Given the description of an element on the screen output the (x, y) to click on. 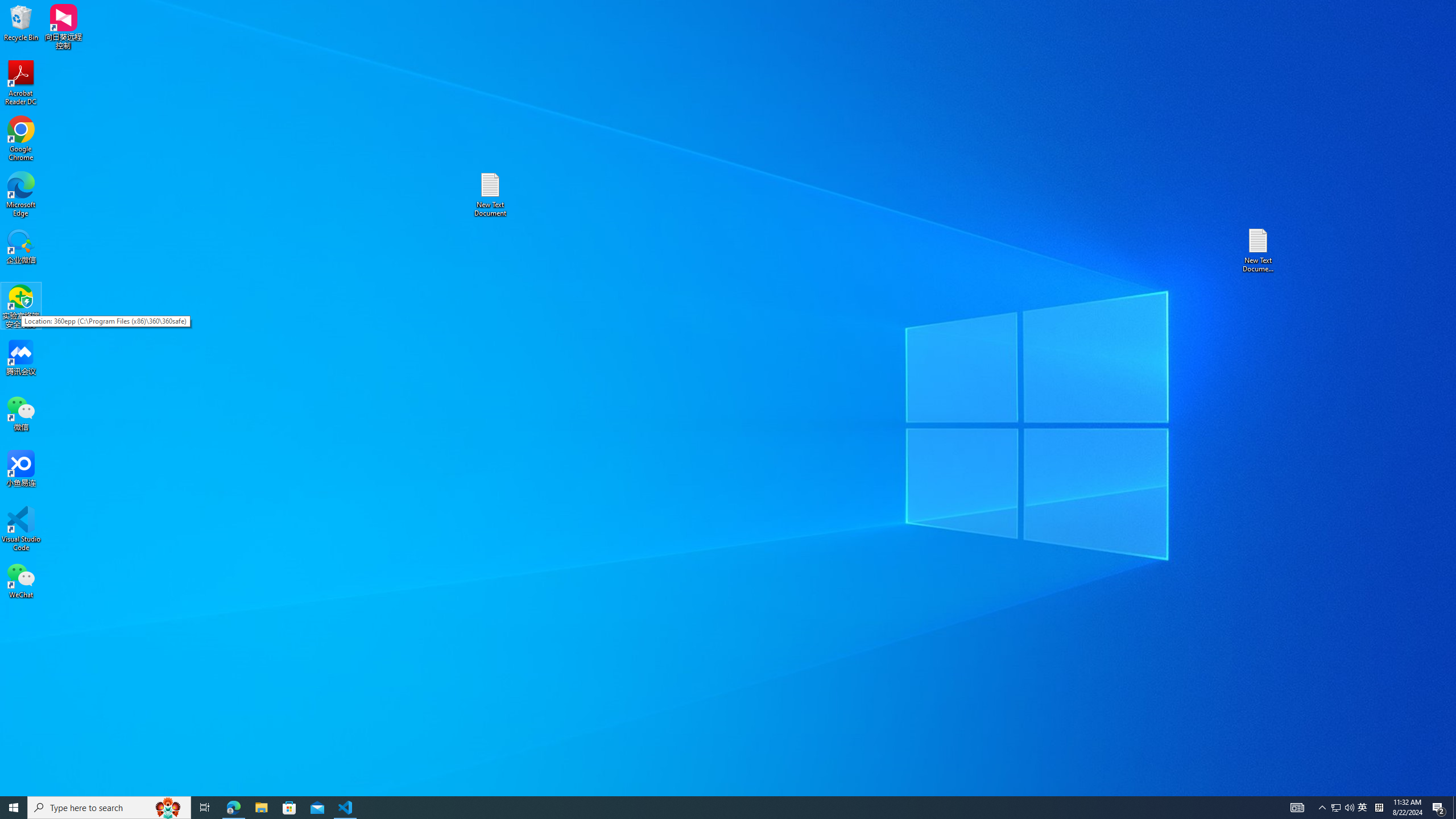
Microsoft Store (289, 807)
Show desktop (1454, 807)
User Promoted Notification Area (1342, 807)
Running applications (707, 807)
File Explorer (261, 807)
Tray Input Indicator - Chinese (Simplified, China) (1378, 807)
Recycle Bin (21, 22)
Google Chrome (21, 138)
Visual Studio Code - 1 running window (345, 807)
WeChat (21, 580)
New Text Document (489, 194)
Type here to search (108, 807)
AutomationID: 4105 (1297, 807)
